Given the description of an element on the screen output the (x, y) to click on. 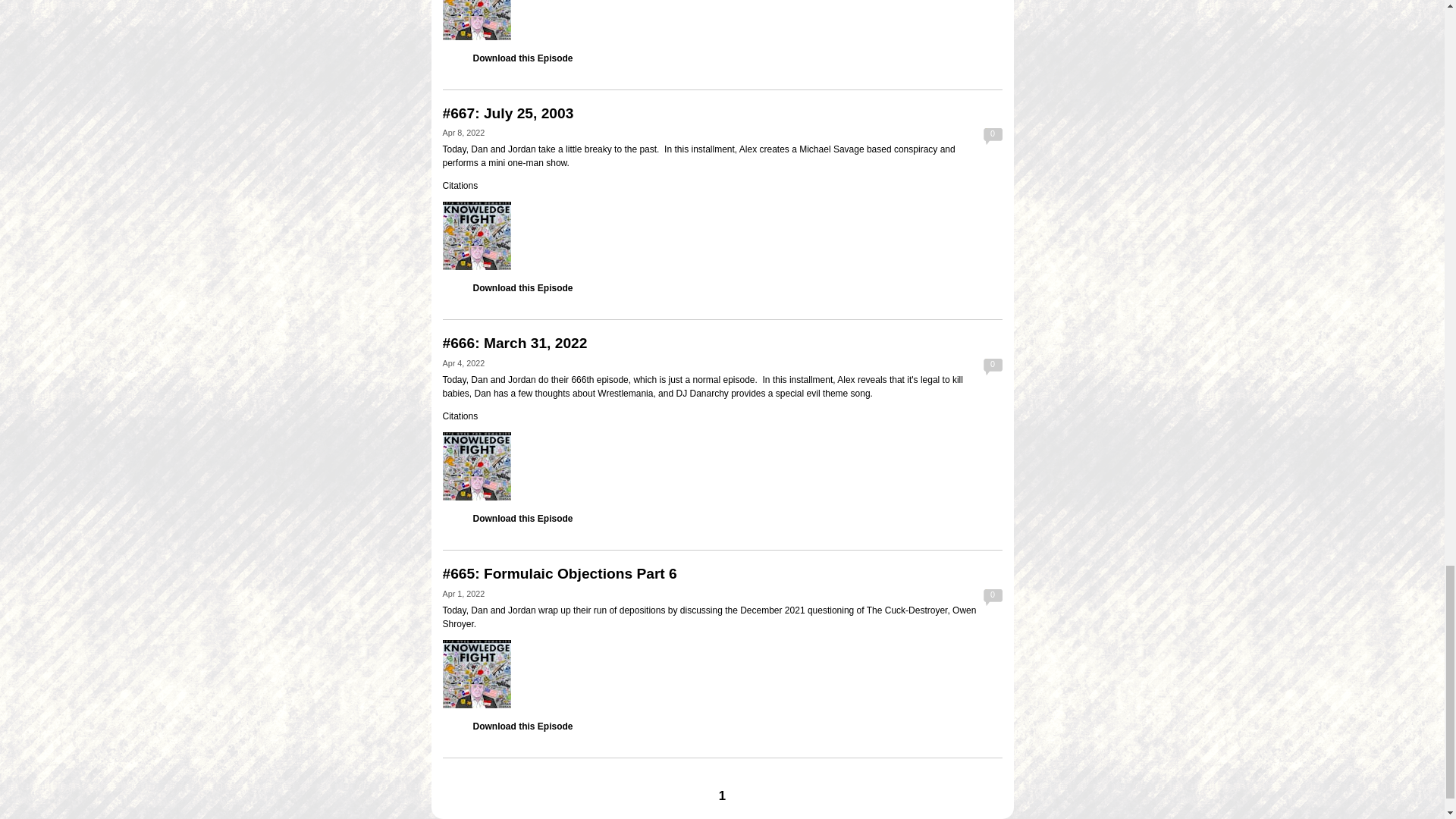
Libsyn Player (722, 235)
Libsyn Player (722, 20)
Libsyn Player (722, 673)
Libsyn Player (722, 466)
